Given the description of an element on the screen output the (x, y) to click on. 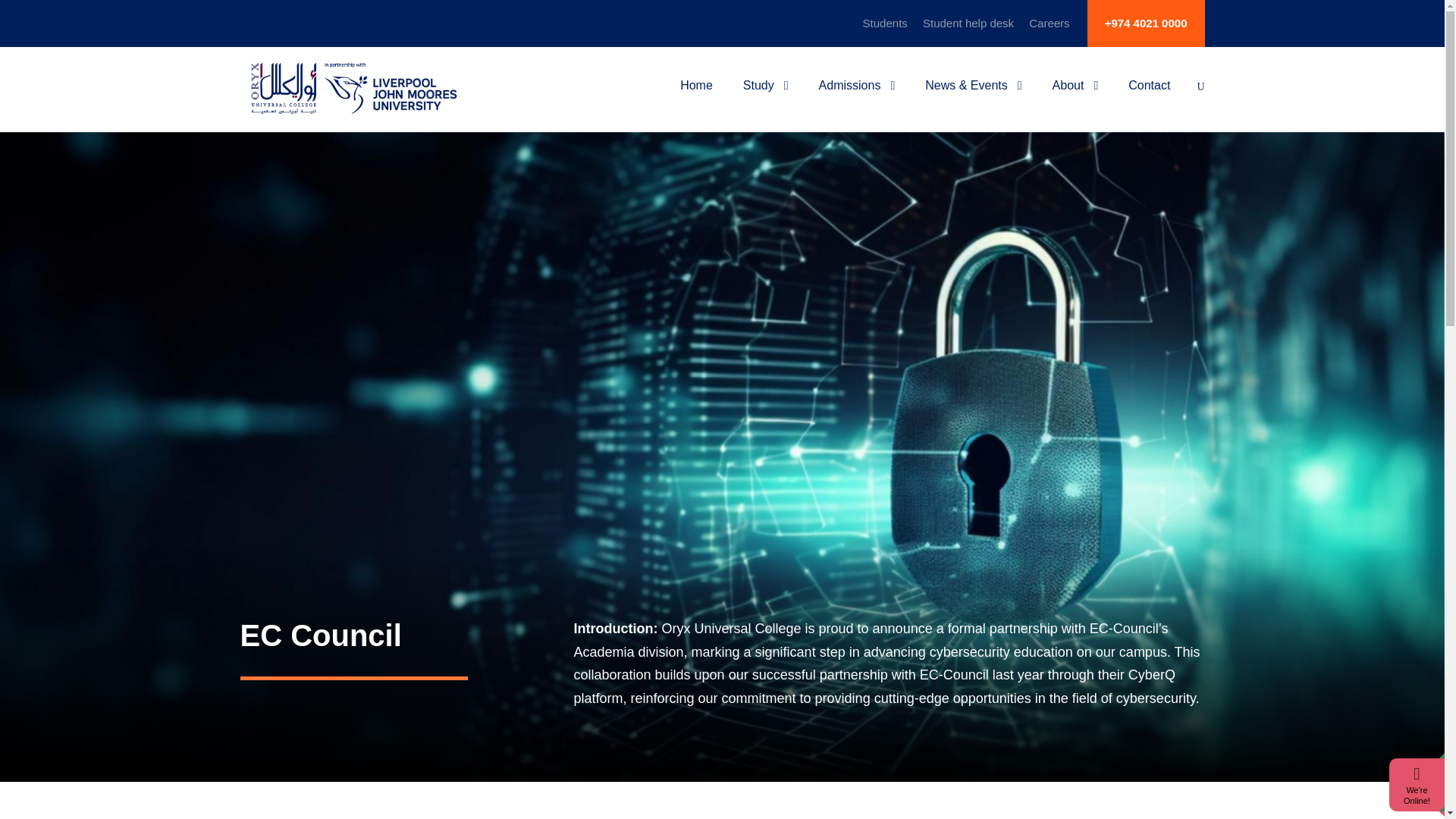
Student help desk (968, 29)
Careers (1048, 29)
Contact (1149, 97)
About (1075, 97)
Study (765, 97)
Students (885, 29)
Admissions (856, 97)
We're Online! (1417, 794)
